Given the description of an element on the screen output the (x, y) to click on. 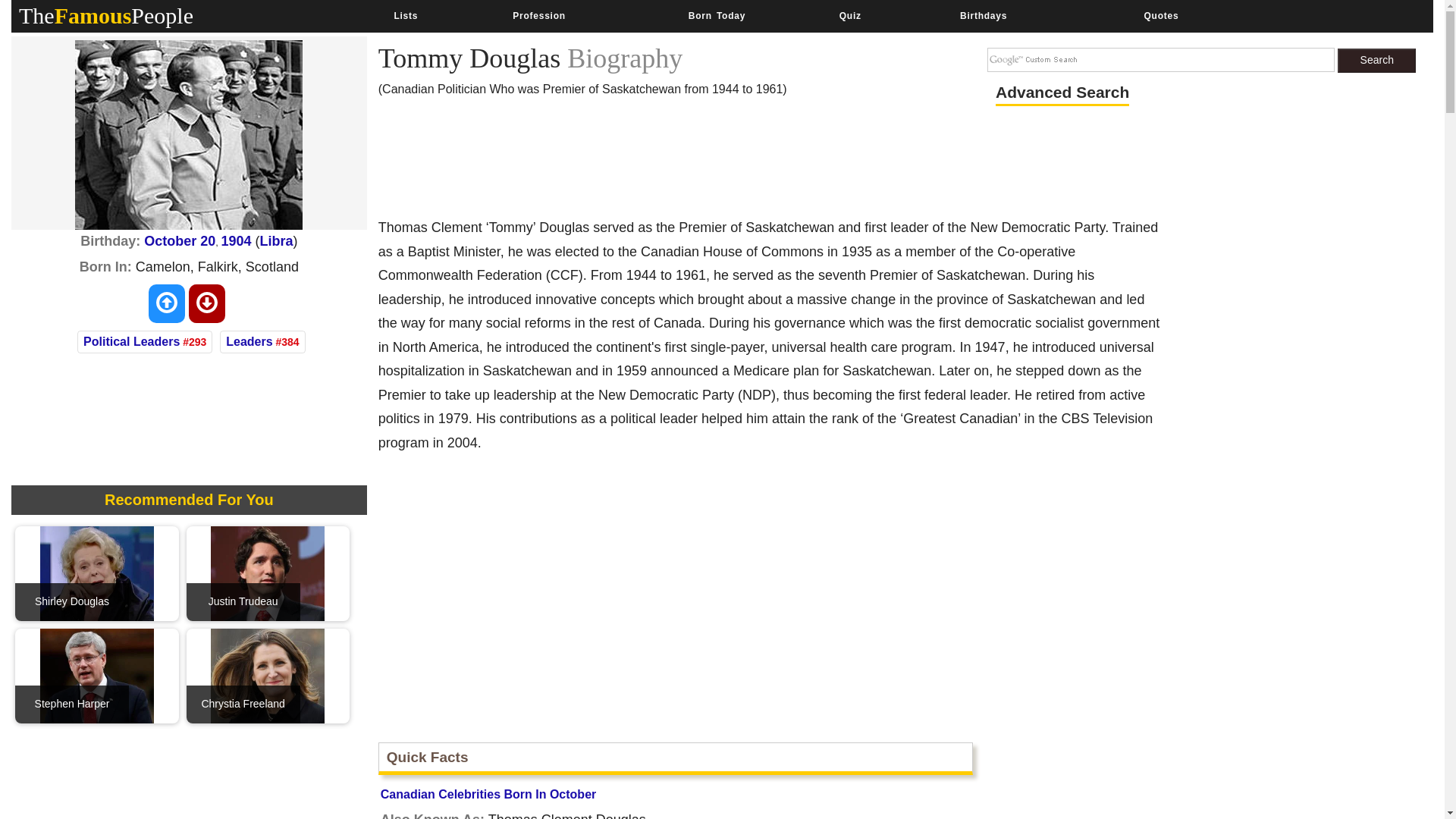
Libra (277, 240)
Shirley Douglas (97, 572)
Quiz (850, 15)
Tommy Douglas (188, 135)
Lists (405, 15)
Leaders (248, 341)
October 20 (179, 240)
1904 (236, 240)
Advertisement (1218, 776)
Birthdays (983, 15)
Born Today (715, 15)
Chrystia Freeland (267, 674)
Political Leaders (130, 341)
Stephen Harper (97, 674)
Justin Trudeau (267, 572)
